Given the description of an element on the screen output the (x, y) to click on. 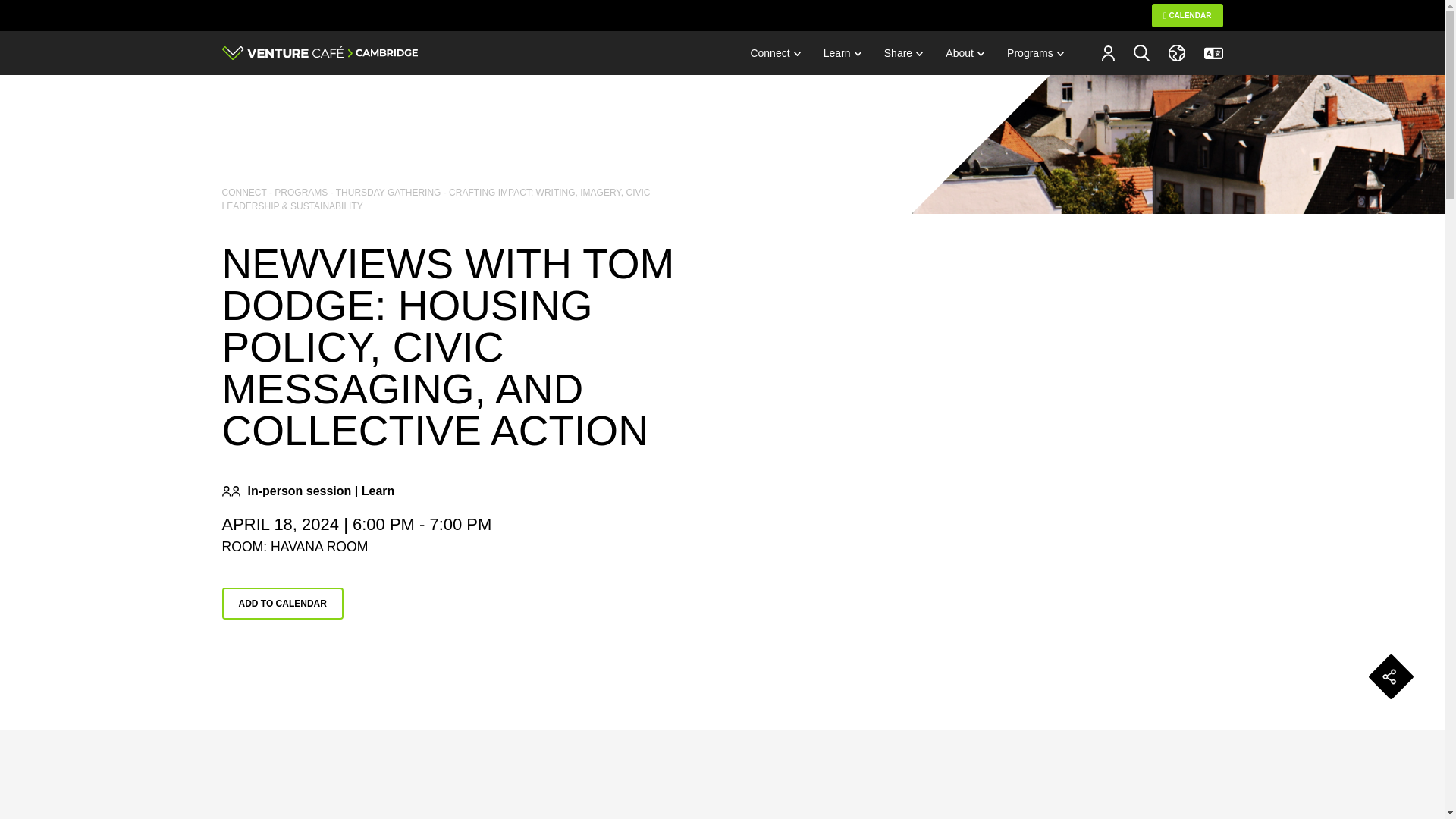
Search (1141, 52)
CALENDAR (1187, 15)
Connect (774, 53)
Programs (1035, 53)
Share (903, 53)
